Given the description of an element on the screen output the (x, y) to click on. 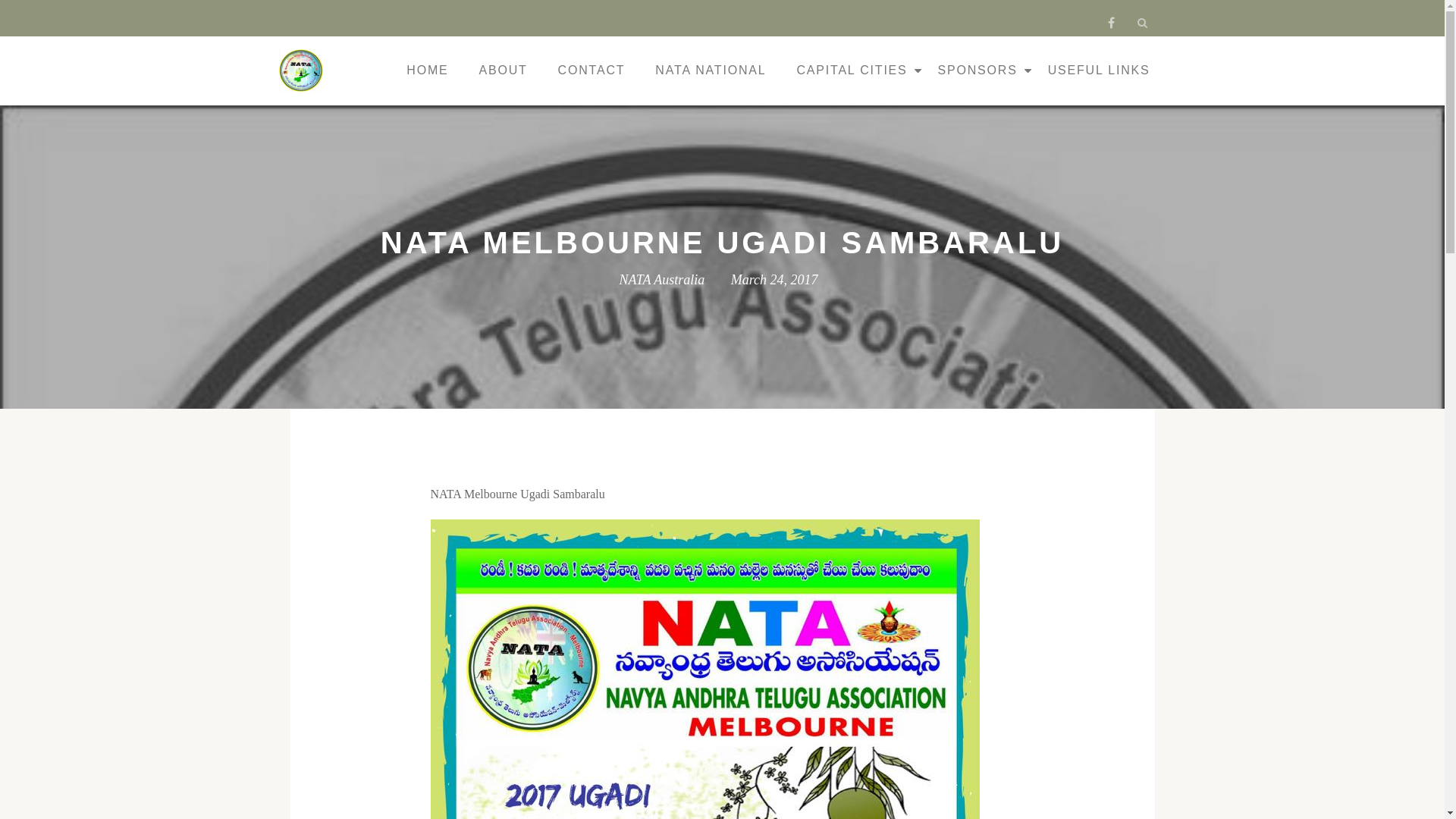
NATA Australia Element type: hover (303, 70)
CAPITAL CITIES Element type: text (851, 70)
CONTACT Element type: text (591, 70)
HOME Element type: text (427, 70)
SPONSORS Element type: text (977, 70)
fa-facebook Element type: text (1111, 25)
ABOUT Element type: text (502, 70)
NATA NATIONAL Element type: text (710, 70)
NATA Australia Element type: text (661, 279)
USEFUL LINKS Element type: text (1098, 70)
